Given the description of an element on the screen output the (x, y) to click on. 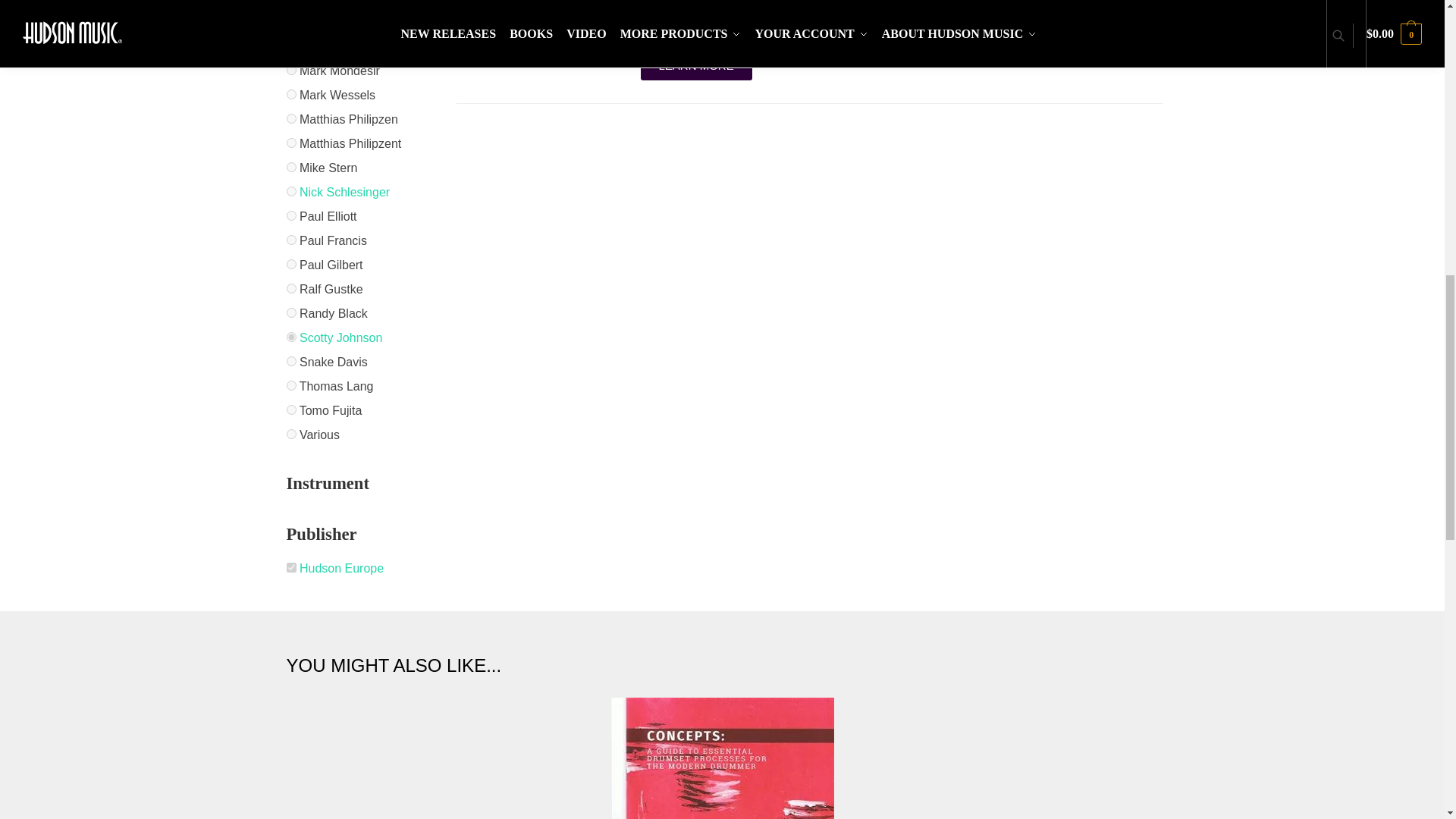
mark-wessels (291, 94)
licksamples (291, 45)
larry-graham (291, 21)
mark-mondesir (291, 70)
matthias-philipzen (291, 118)
matthias-philipzent (291, 143)
